Given the description of an element on the screen output the (x, y) to click on. 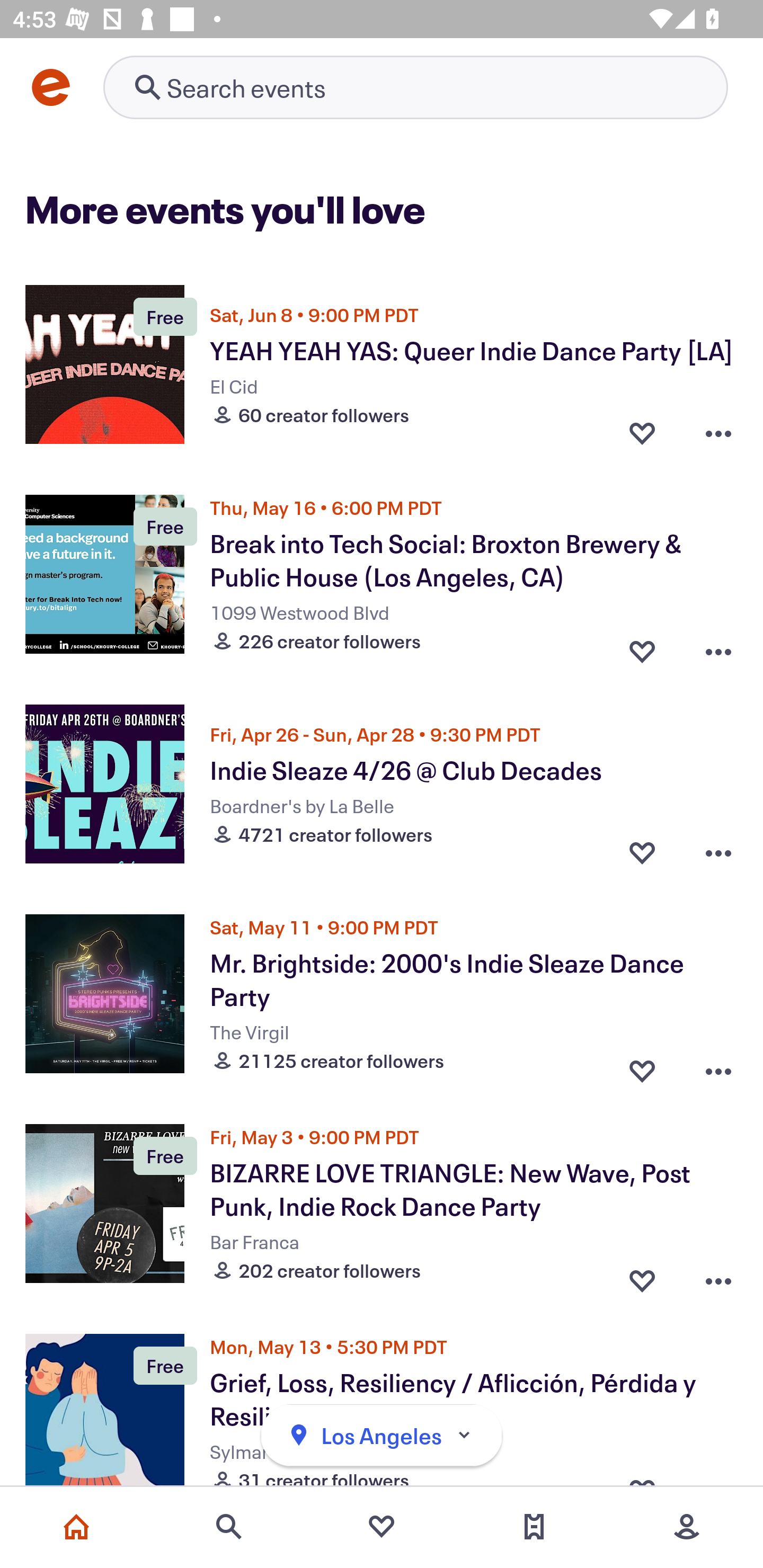
Retry's image Search events (415, 86)
Favorite button (642, 431)
Overflow menu button (718, 431)
Favorite button (642, 646)
Overflow menu button (718, 646)
Favorite button (642, 852)
Overflow menu button (718, 852)
Favorite button (642, 1066)
Overflow menu button (718, 1066)
Favorite button (642, 1275)
Overflow menu button (718, 1275)
Los Angeles (381, 1435)
Home (76, 1526)
Search events (228, 1526)
Favorites (381, 1526)
Tickets (533, 1526)
More (686, 1526)
